Given the description of an element on the screen output the (x, y) to click on. 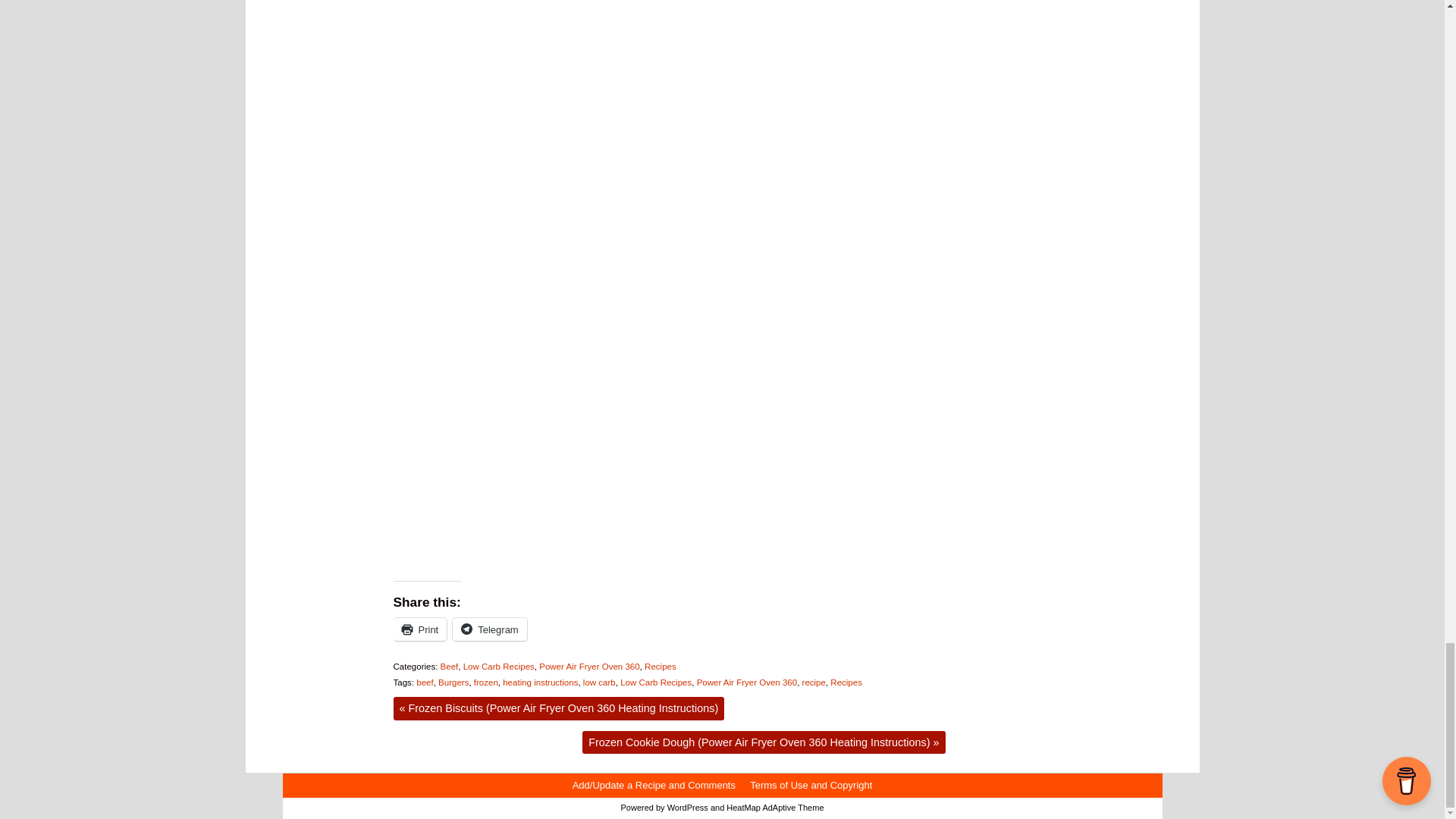
Click to share on Telegram (488, 629)
Click to print (419, 629)
